Given the description of an element on the screen output the (x, y) to click on. 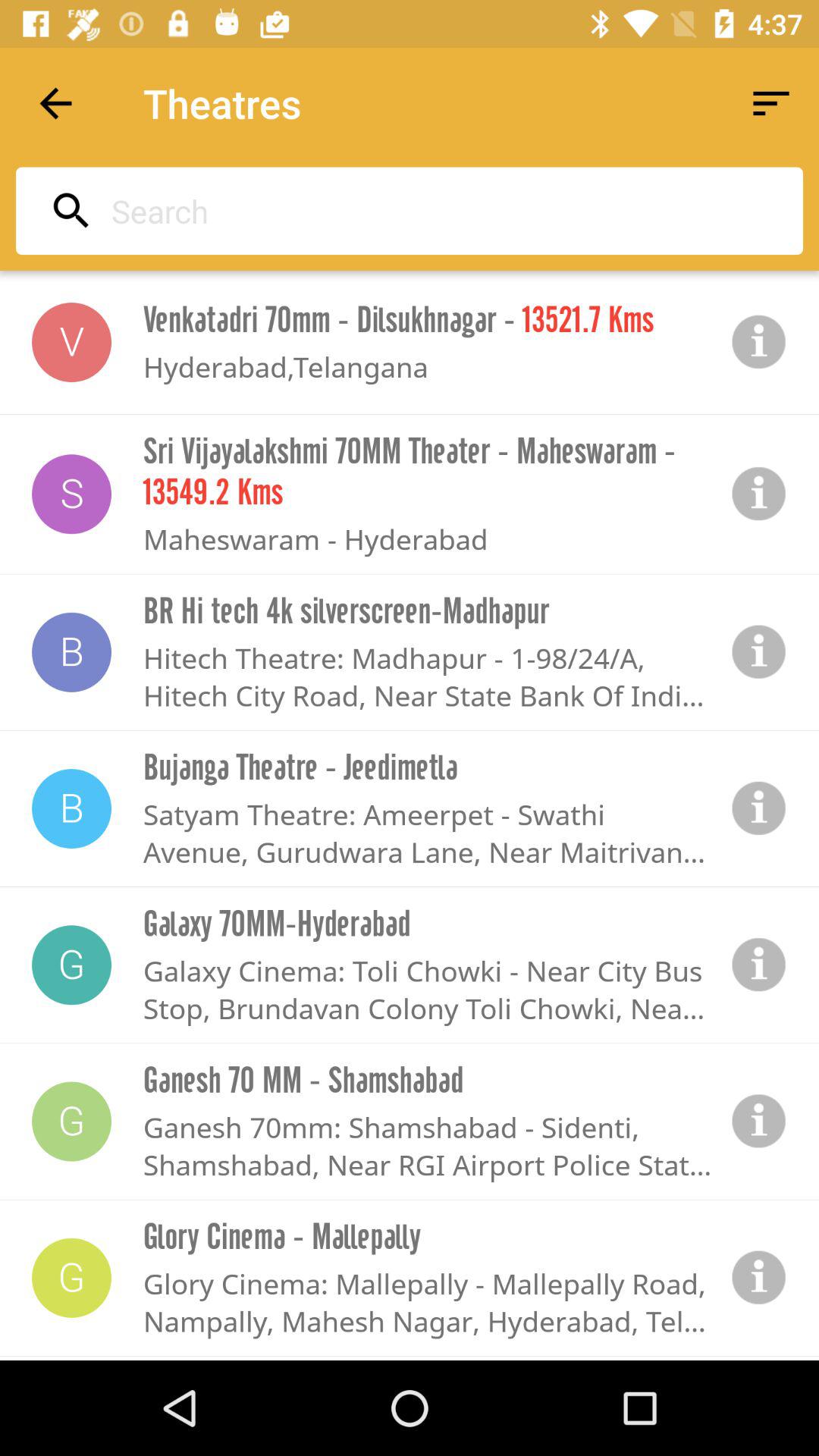
open information on item (759, 652)
